Given the description of an element on the screen output the (x, y) to click on. 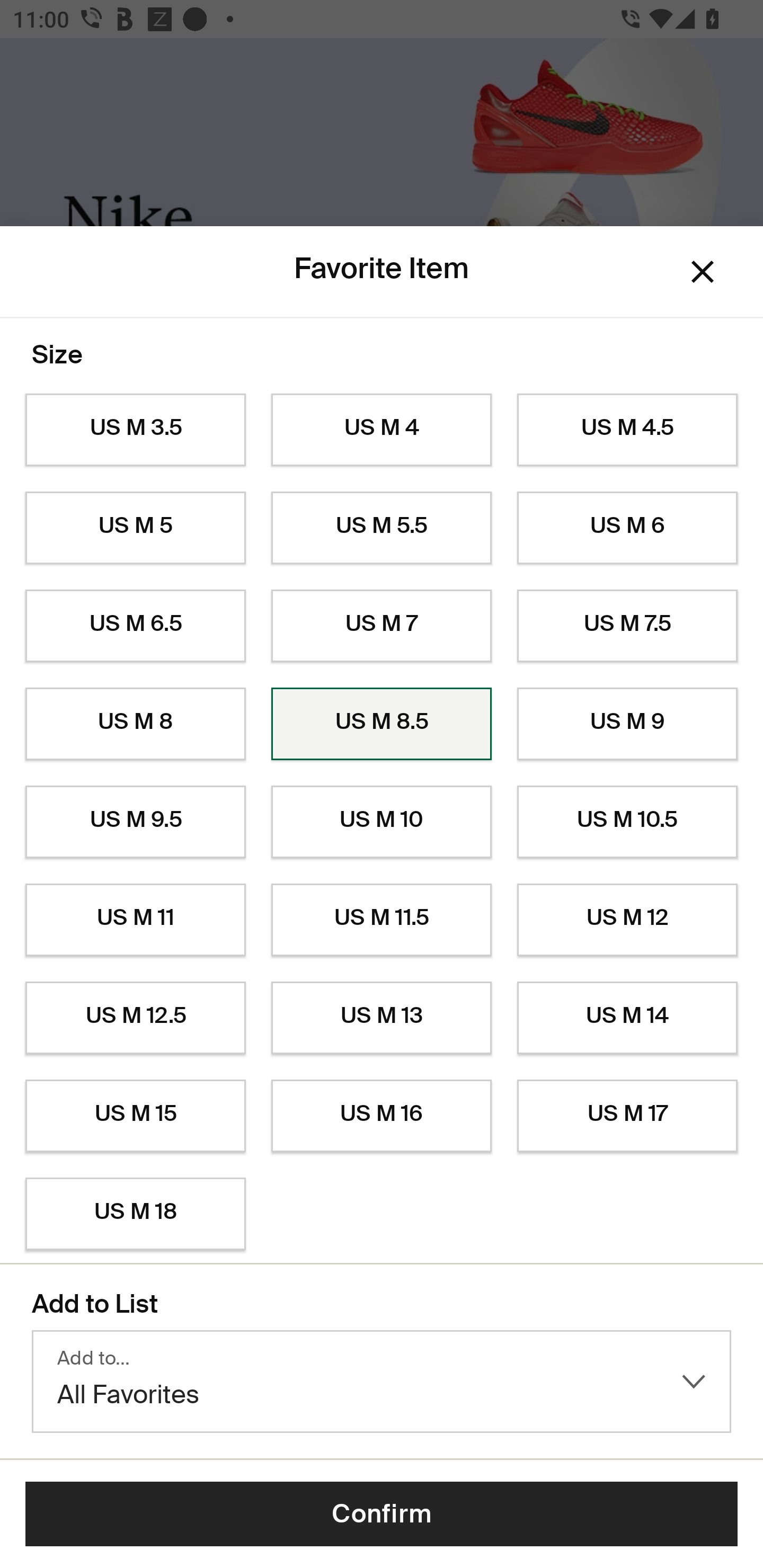
Dismiss (702, 271)
US M 3.5 (135, 430)
US M 4 (381, 430)
US M 4.5 (627, 430)
US M 5 (135, 527)
US M 5.5 (381, 527)
US M 6 (627, 527)
US M 6.5 (135, 626)
US M 7 (381, 626)
US M 7.5 (627, 626)
US M 8 (135, 724)
US M 8.5 (381, 724)
US M 9 (627, 724)
US M 9.5 (135, 822)
US M 10 (381, 822)
US M 10.5 (627, 822)
US M 11 (135, 919)
US M 11.5 (381, 919)
US M 12 (627, 919)
US M 12.5 (135, 1018)
US M 13 (381, 1018)
US M 14 (627, 1018)
US M 15 (135, 1116)
US M 16 (381, 1116)
US M 17 (627, 1116)
US M 18 (135, 1214)
Add to… All Favorites (381, 1381)
Confirm (381, 1513)
